Given the description of an element on the screen output the (x, y) to click on. 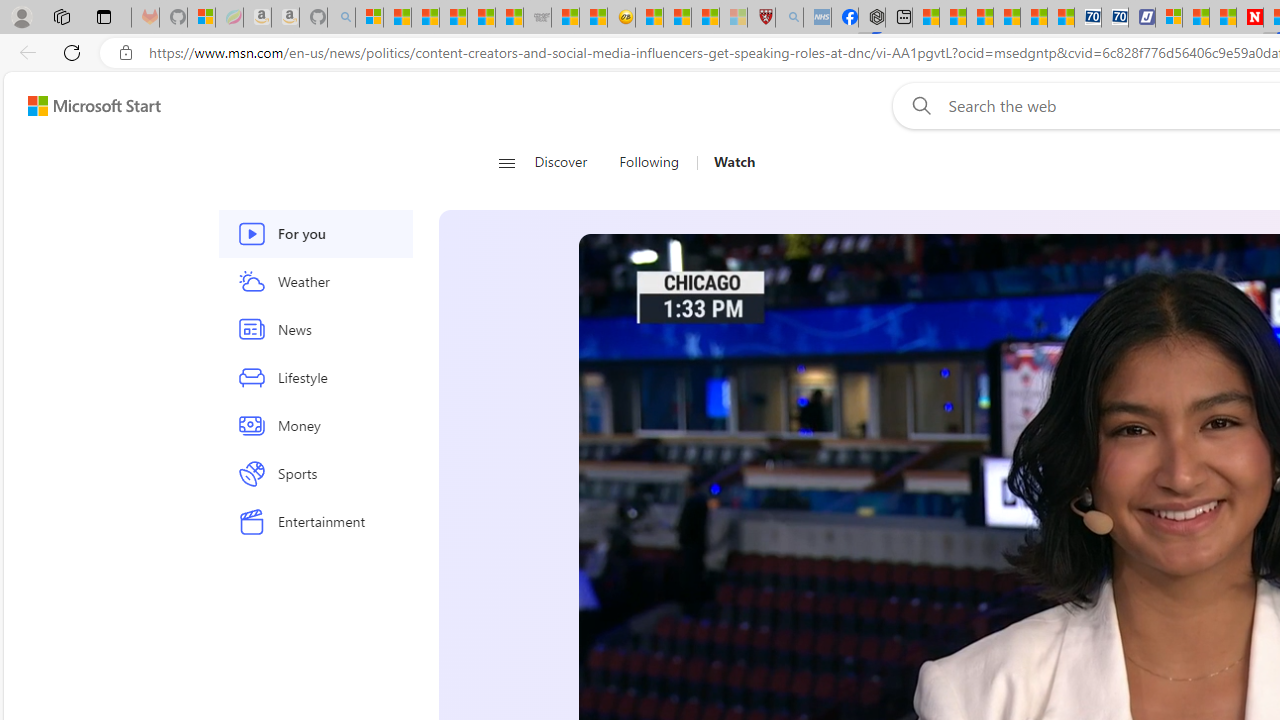
Class: button-glyph (505, 162)
Robert H. Shmerling, MD - Harvard Health (760, 17)
New Report Confirms 2023 Was Record Hot | Watch (481, 17)
Cheap Car Rentals - Save70.com (1087, 17)
Cheap Hotels - Save70.com (1114, 17)
